Given the description of an element on the screen output the (x, y) to click on. 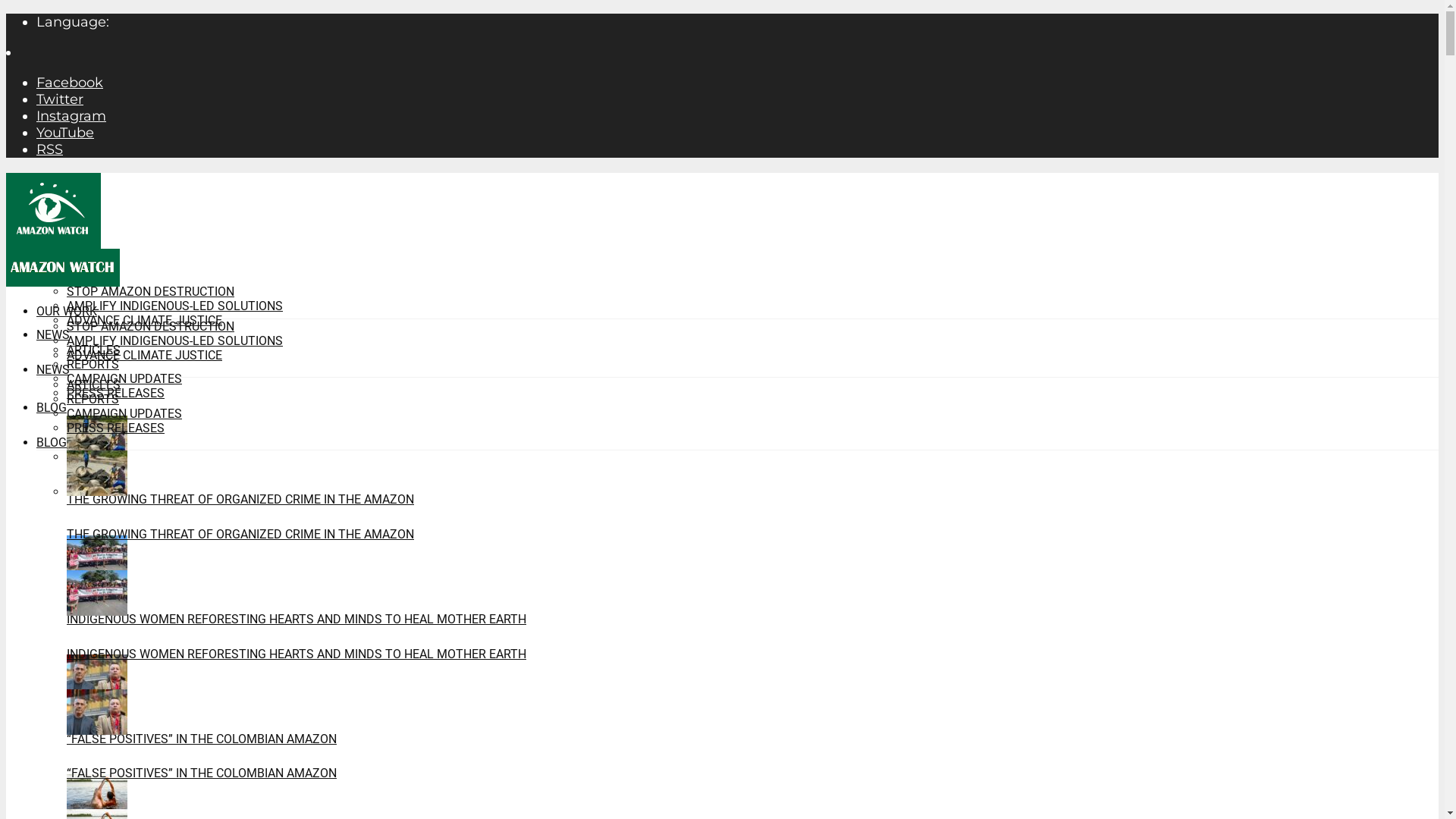
Language: Element type: text (72, 21)
RSS Element type: text (49, 149)
PRESS RELEASES Element type: text (115, 427)
CAMPAIGN UPDATES Element type: text (124, 413)
Facebook Element type: text (69, 82)
REPORTS Element type: text (92, 364)
CAMPAIGN UPDATES Element type: text (124, 378)
NEWS Element type: text (52, 334)
OUR WORK Element type: text (66, 276)
PRESS RELEASES Element type: text (115, 392)
BLOG Element type: text (51, 407)
ADVANCE CLIMATE JUSTICE Element type: text (144, 320)
ADVANCE CLIMATE JUSTICE Element type: text (144, 355)
OUR WORK Element type: text (66, 311)
ARTICLES Element type: text (93, 349)
Twitter Element type: text (59, 99)
THE GROWING THREAT OF ORGANIZED CRIME IN THE AMAZON Element type: text (240, 499)
ARTICLES Element type: text (93, 384)
NEWS Element type: text (52, 369)
STOP AMAZON DESTRUCTION Element type: text (150, 326)
The Growing Threat of Organized Crime in the Amazon Element type: hover (96, 491)
STOP AMAZON DESTRUCTION Element type: text (150, 291)
AMPLIFY INDIGENOUS-LED SOLUTIONS Element type: text (174, 340)
Instagram Element type: text (71, 115)
BLOG Element type: text (51, 442)
THE GROWING THREAT OF ORGANIZED CRIME IN THE AMAZON Element type: text (240, 534)
The Growing Threat of Organized Crime in the Amazon Element type: hover (96, 456)
YouTube Element type: text (65, 132)
AMPLIFY INDIGENOUS-LED SOLUTIONS Element type: text (174, 305)
REPORTS Element type: text (92, 399)
